Given the description of an element on the screen output the (x, y) to click on. 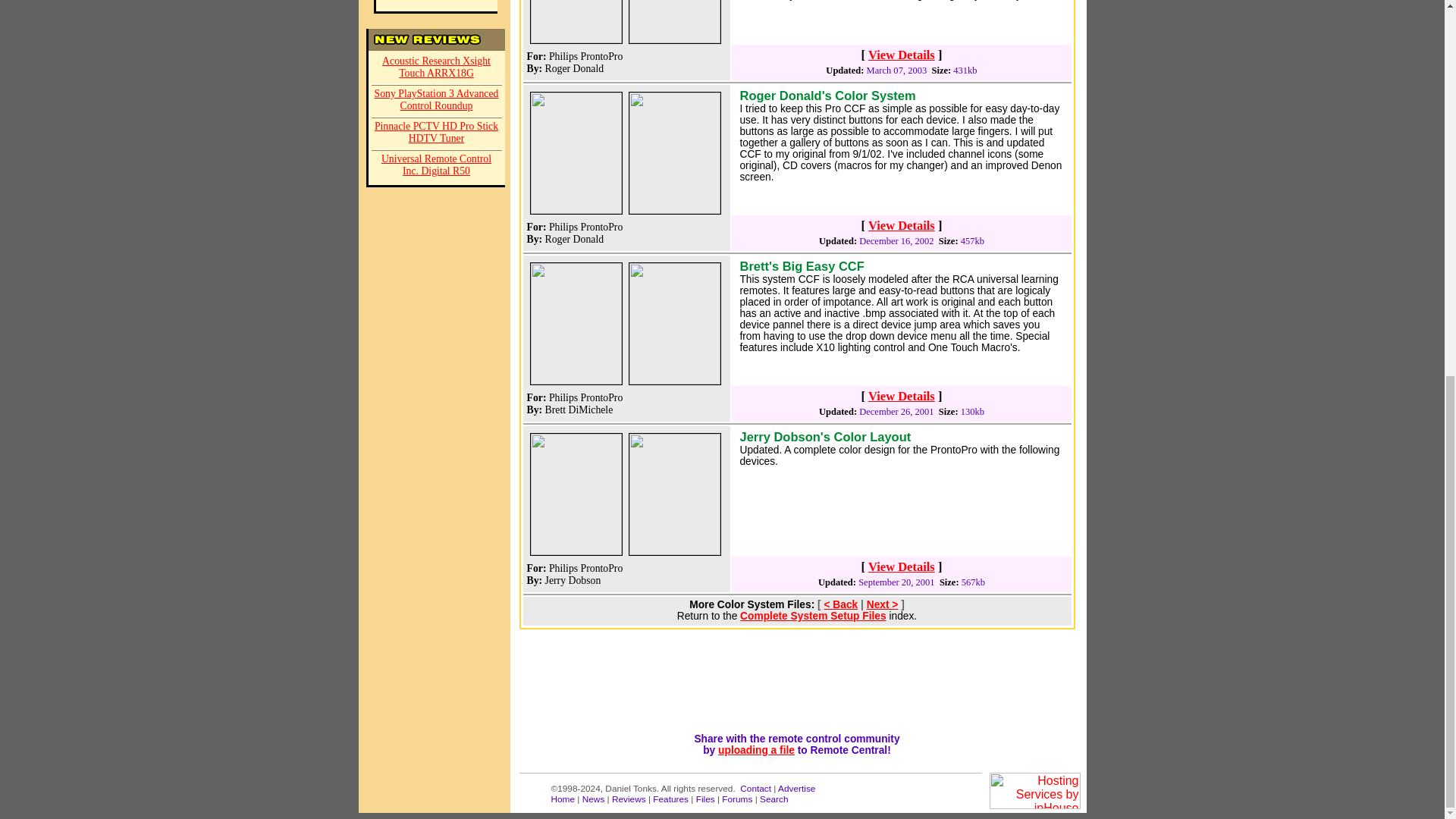
Sony PlayStation 3 Advanced Control Roundup (436, 101)
Acoustic Research Xsight Touch ARRX18G (436, 68)
Universal Remote Control Inc. Digital R50 (436, 165)
Pinnacle PCTV HD Pro Stick HDTV Tuner (436, 133)
